Given the description of an element on the screen output the (x, y) to click on. 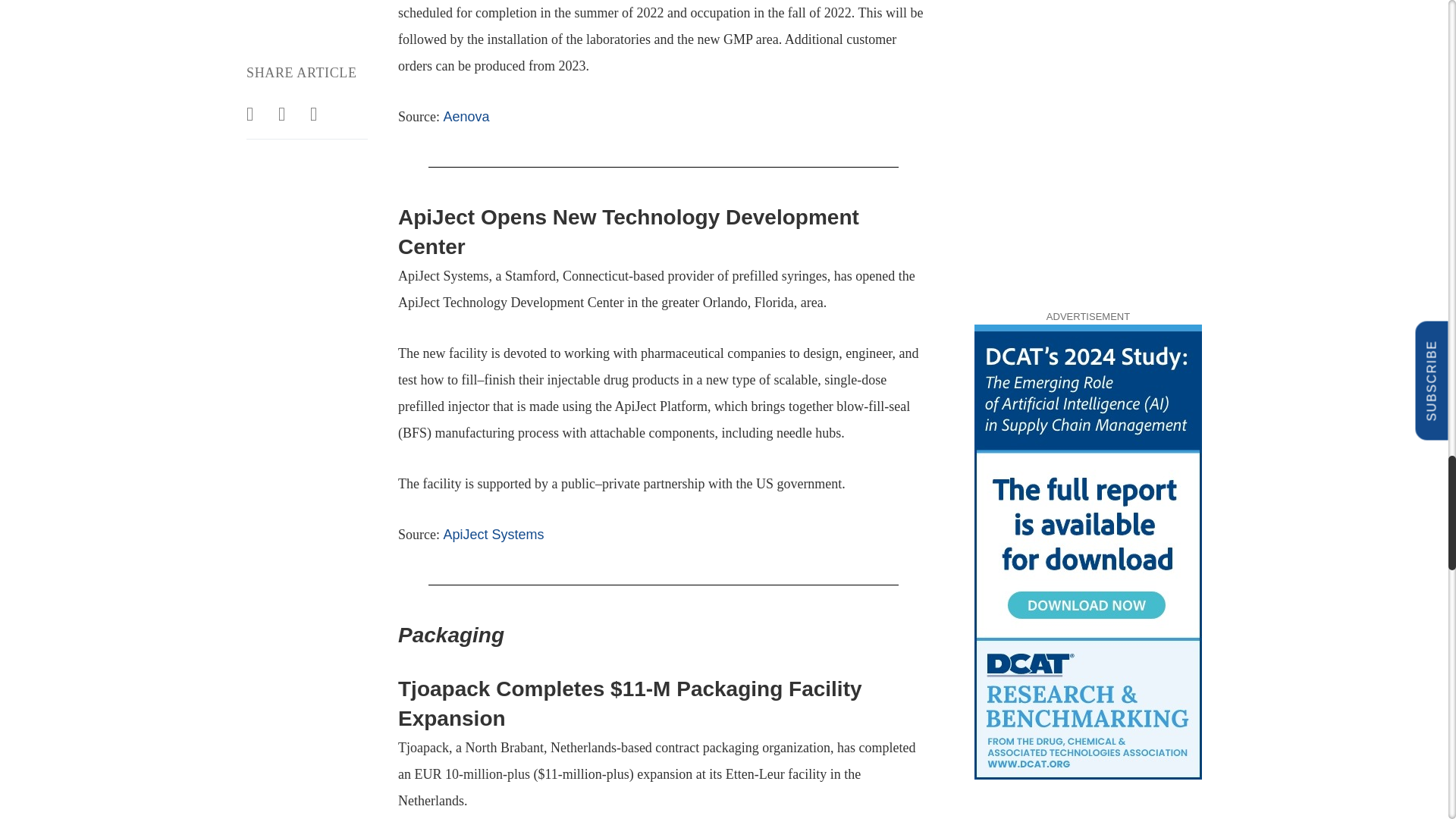
ApiJect Systems (492, 534)
Aenova (465, 116)
